Given the description of an element on the screen output the (x, y) to click on. 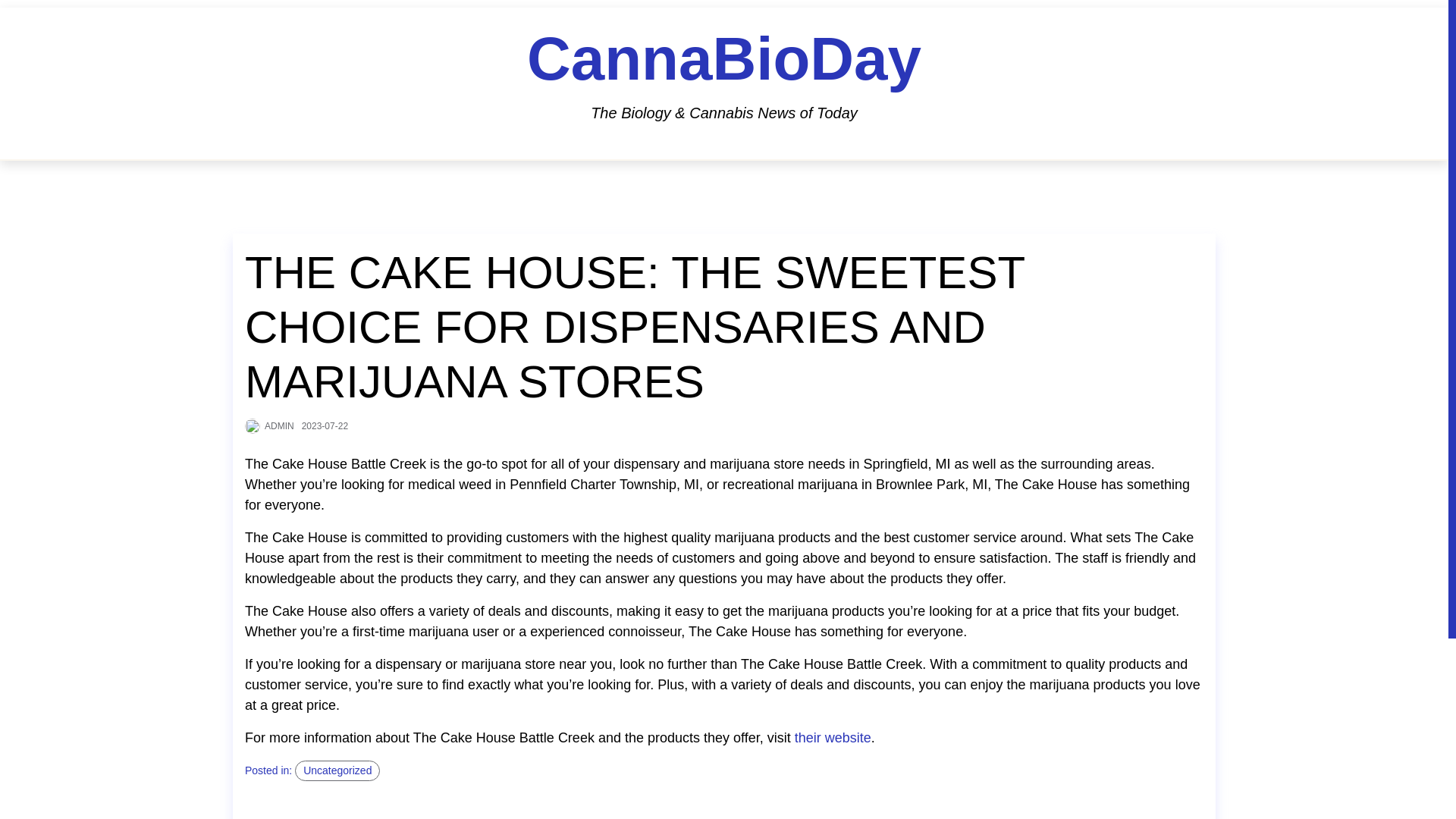
Uncategorized (337, 770)
ADMIN (279, 425)
their website (832, 738)
CannaBioDay (724, 58)
